Given the description of an element on the screen output the (x, y) to click on. 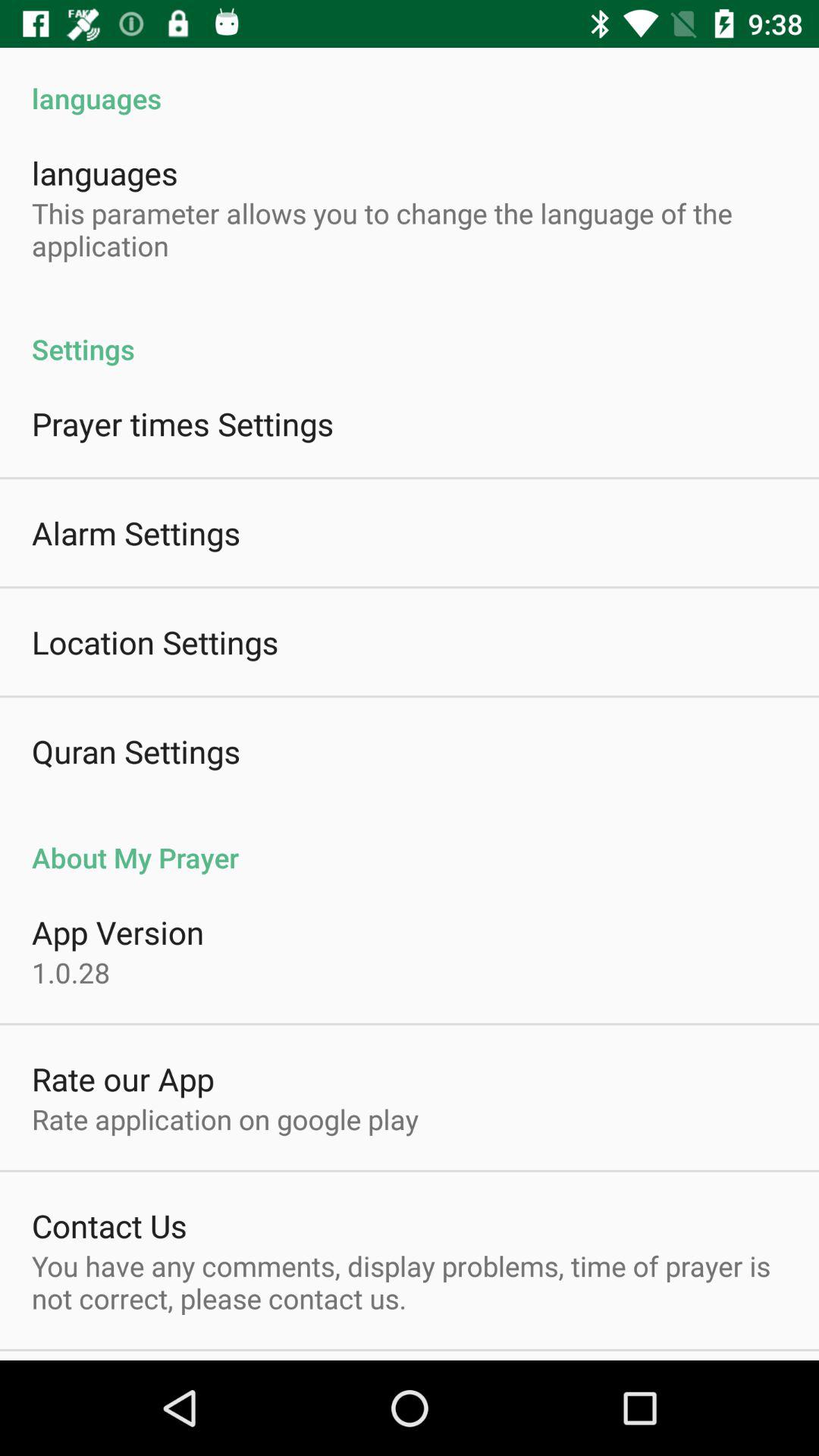
turn off the app below the languages icon (409, 229)
